Given the description of an element on the screen output the (x, y) to click on. 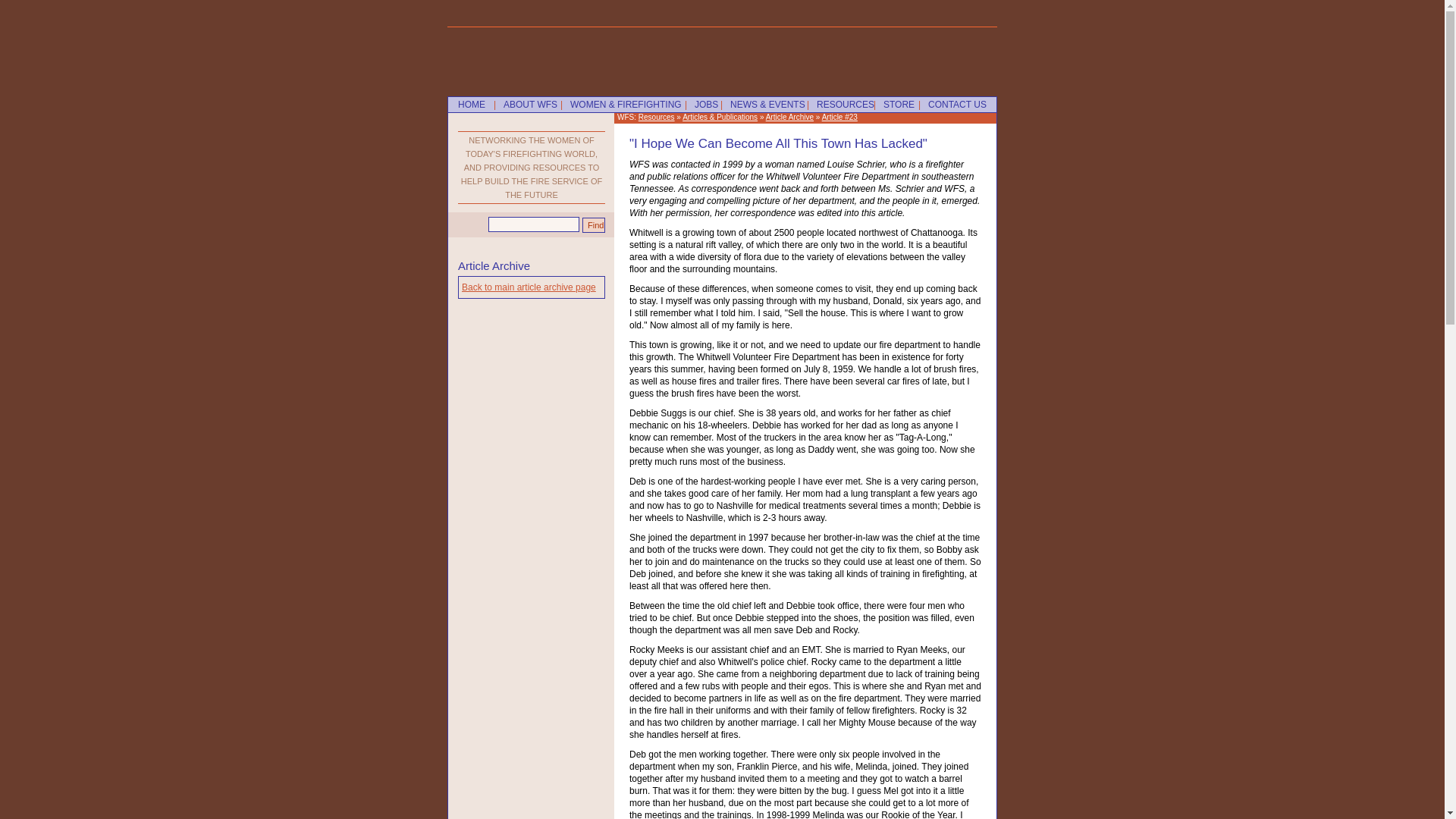
STORE (893, 104)
Find (593, 224)
Resources (657, 117)
JOBS (700, 104)
HOME (466, 104)
ABOUT WFS (525, 104)
CONTACT US (952, 104)
RESOURCES (840, 104)
